Given the description of an element on the screen output the (x, y) to click on. 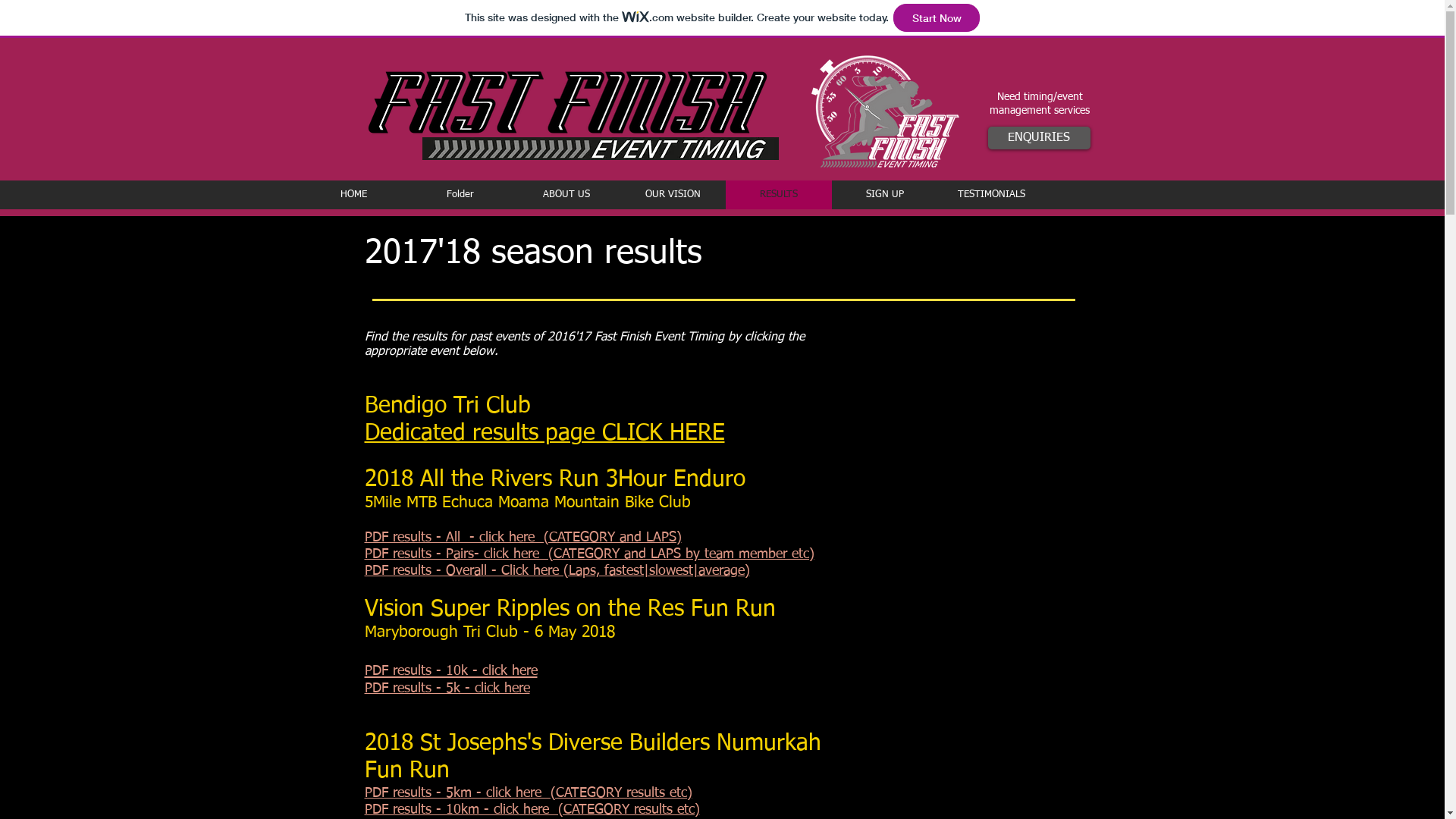
TESTIMONIALS Element type: text (990, 194)
RESULTS Element type: text (777, 194)
Dedicated results page CLICK HERE Element type: text (544, 435)
PDF results - 5k - click here Element type: text (446, 688)
PDF results - 10k - click here Element type: text (450, 670)
PDF results - 10km - click here  (CATEGORY results etc) Element type: text (531, 809)
SIGN UP Element type: text (884, 194)
PDF results - All  - click here  (CATEGORY and LAPS) Element type: text (522, 537)
ABOUT US Element type: text (565, 194)
OUR VISION Element type: text (671, 194)
PDF results - 5km - click here  (CATEGORY results etc) Element type: text (527, 793)
HOME Element type: text (353, 194)
ENQUIRIES Element type: text (1038, 137)
